Given the description of an element on the screen output the (x, y) to click on. 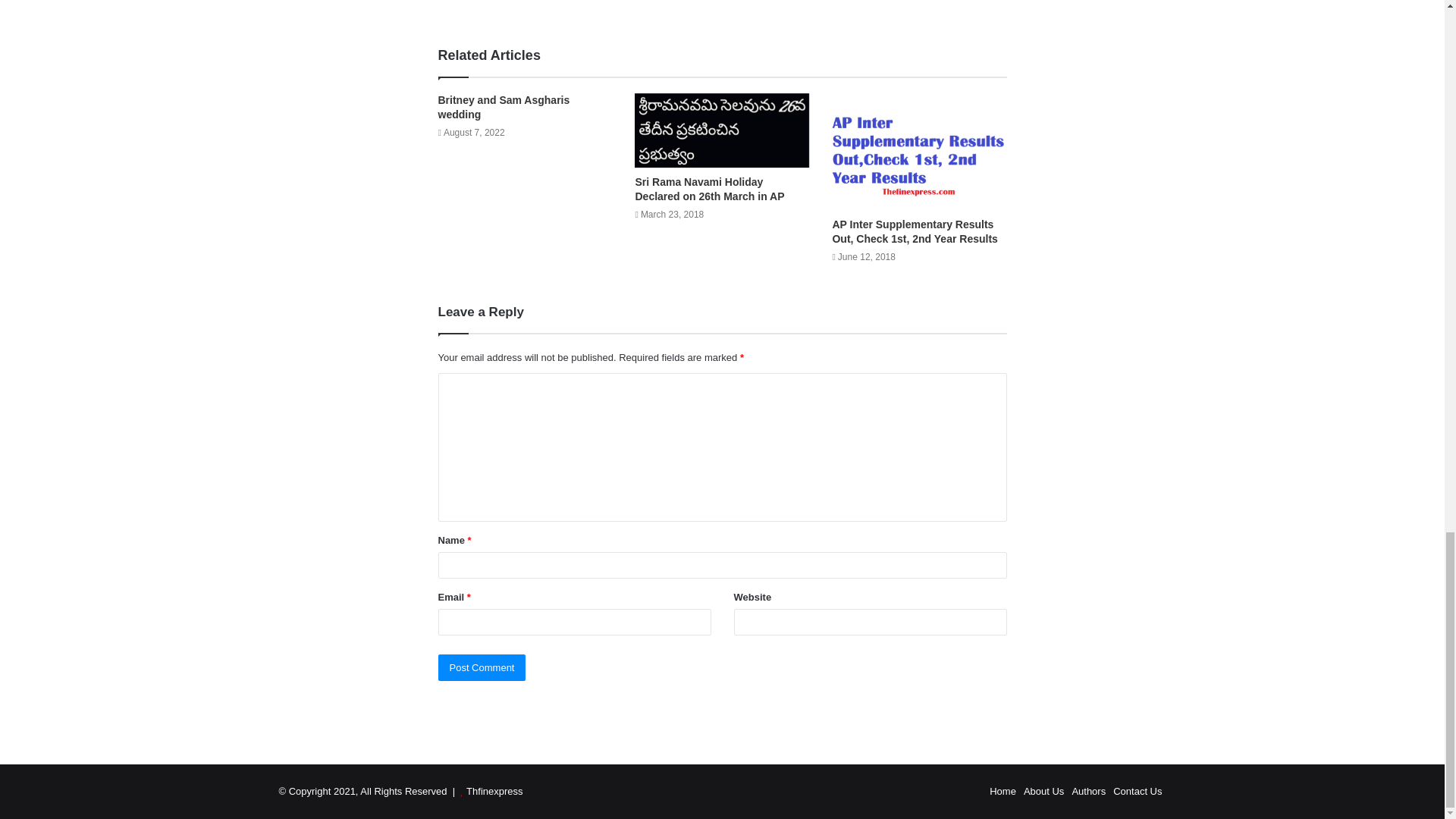
Post Comment (481, 667)
Britney and Sam Asgharis wedding (504, 107)
Sri Rama Navami Holiday Declared on 26th March in AP (709, 189)
